Given the description of an element on the screen output the (x, y) to click on. 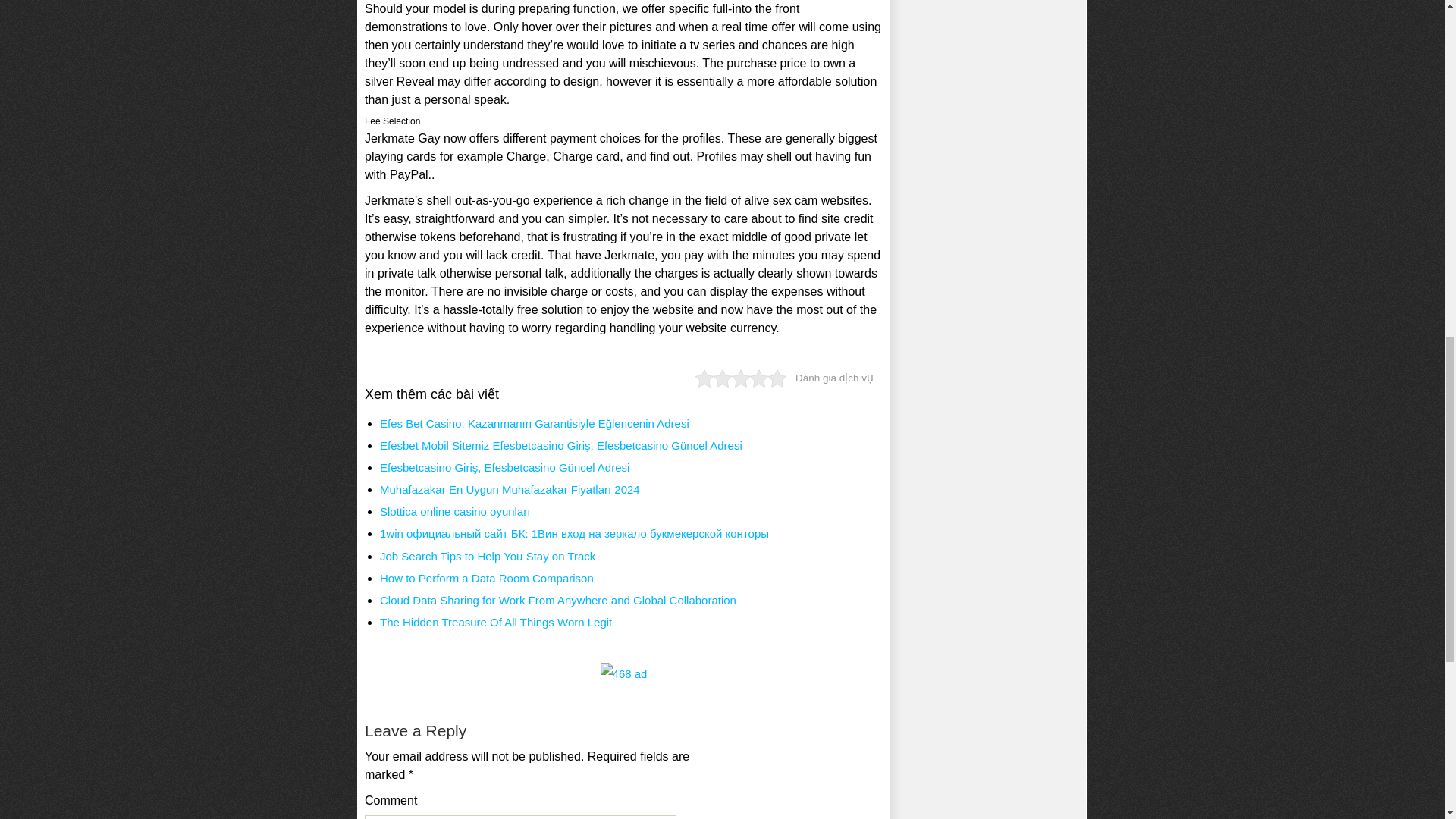
Job Search Tips to Help You Stay on Track (487, 555)
How to Perform a Data Room Comparison (487, 577)
The Hidden Treasure Of All Things Worn Legit (495, 621)
